Given the description of an element on the screen output the (x, y) to click on. 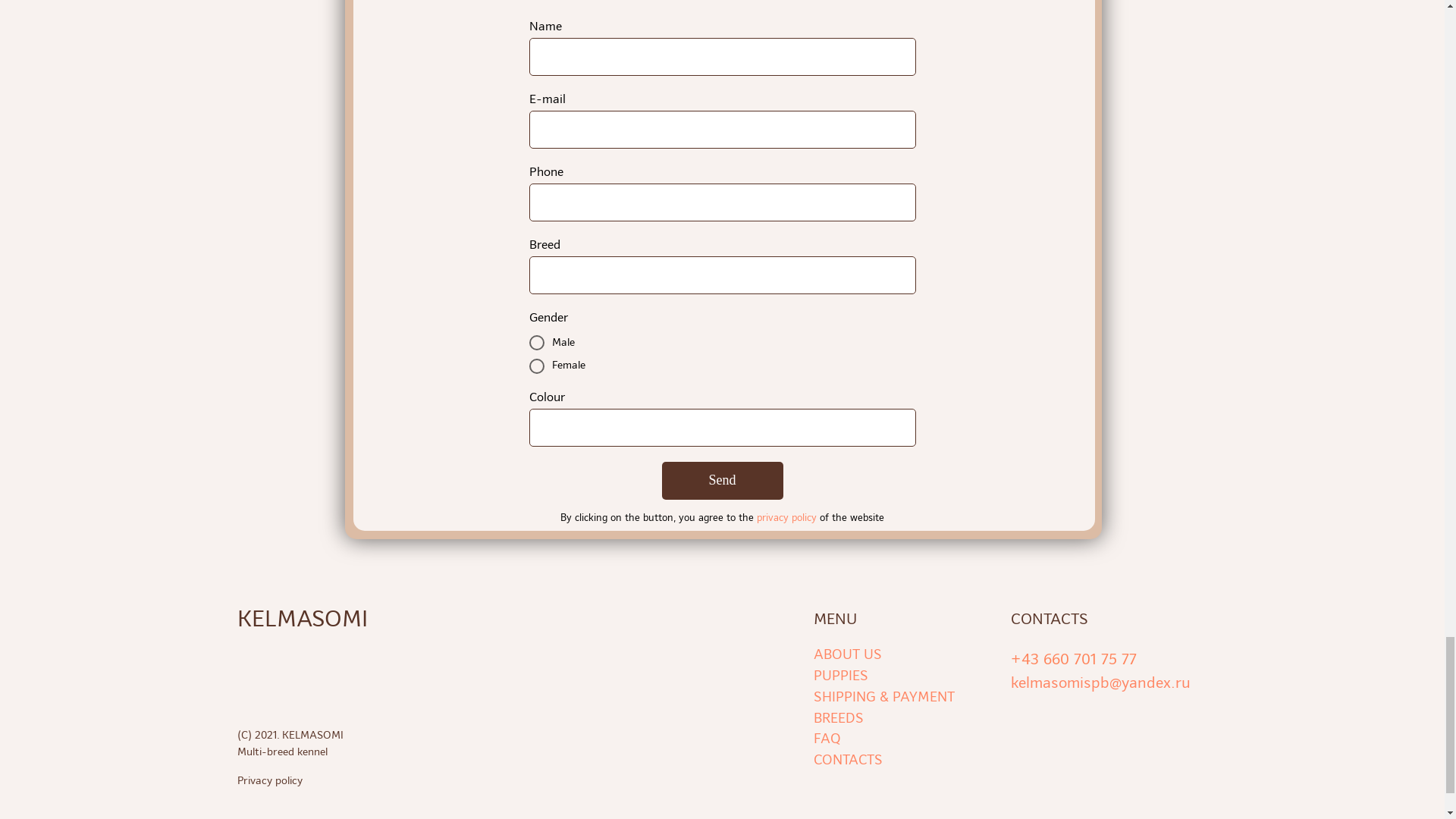
privacy policy (786, 517)
BREEDS (837, 716)
PUPPIES (839, 674)
Privacy policy (353, 781)
CONTACTS (847, 759)
ABOUT US (846, 653)
Send (722, 480)
FAQ (826, 737)
KELMASOMI (315, 619)
